Given the description of an element on the screen output the (x, y) to click on. 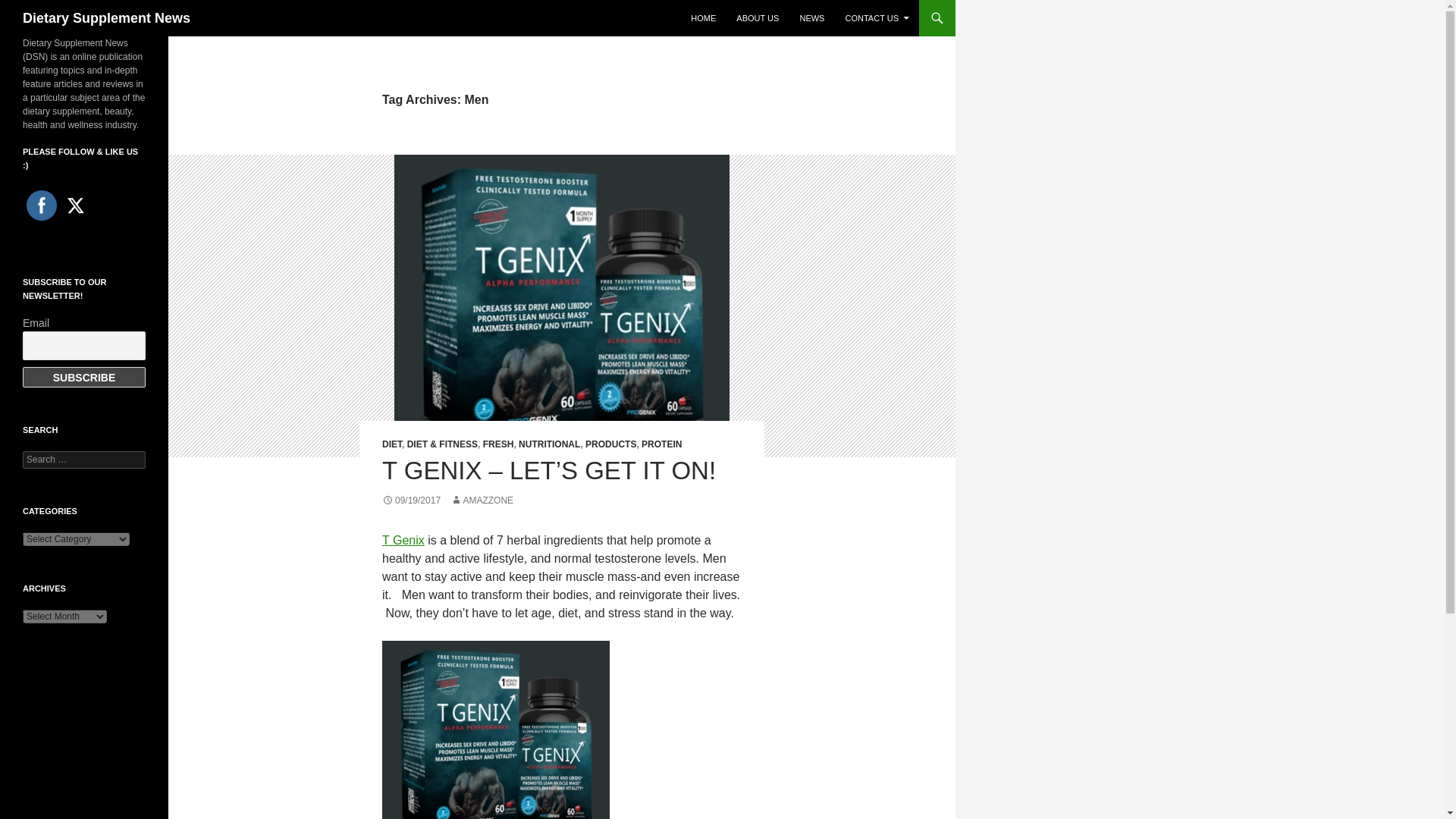
HOME (703, 18)
PRODUCTS (610, 443)
Subscribe (84, 376)
Facebook (41, 205)
Search (30, 8)
NEWS (811, 18)
FRESH (498, 443)
T Genix (403, 540)
Twitter (75, 205)
ABOUT US (756, 18)
CONTACT US (876, 18)
Dietary Supplement News (106, 18)
Subscribe (84, 376)
NUTRITIONAL (548, 443)
AMAZZONE (481, 500)
